Given the description of an element on the screen output the (x, y) to click on. 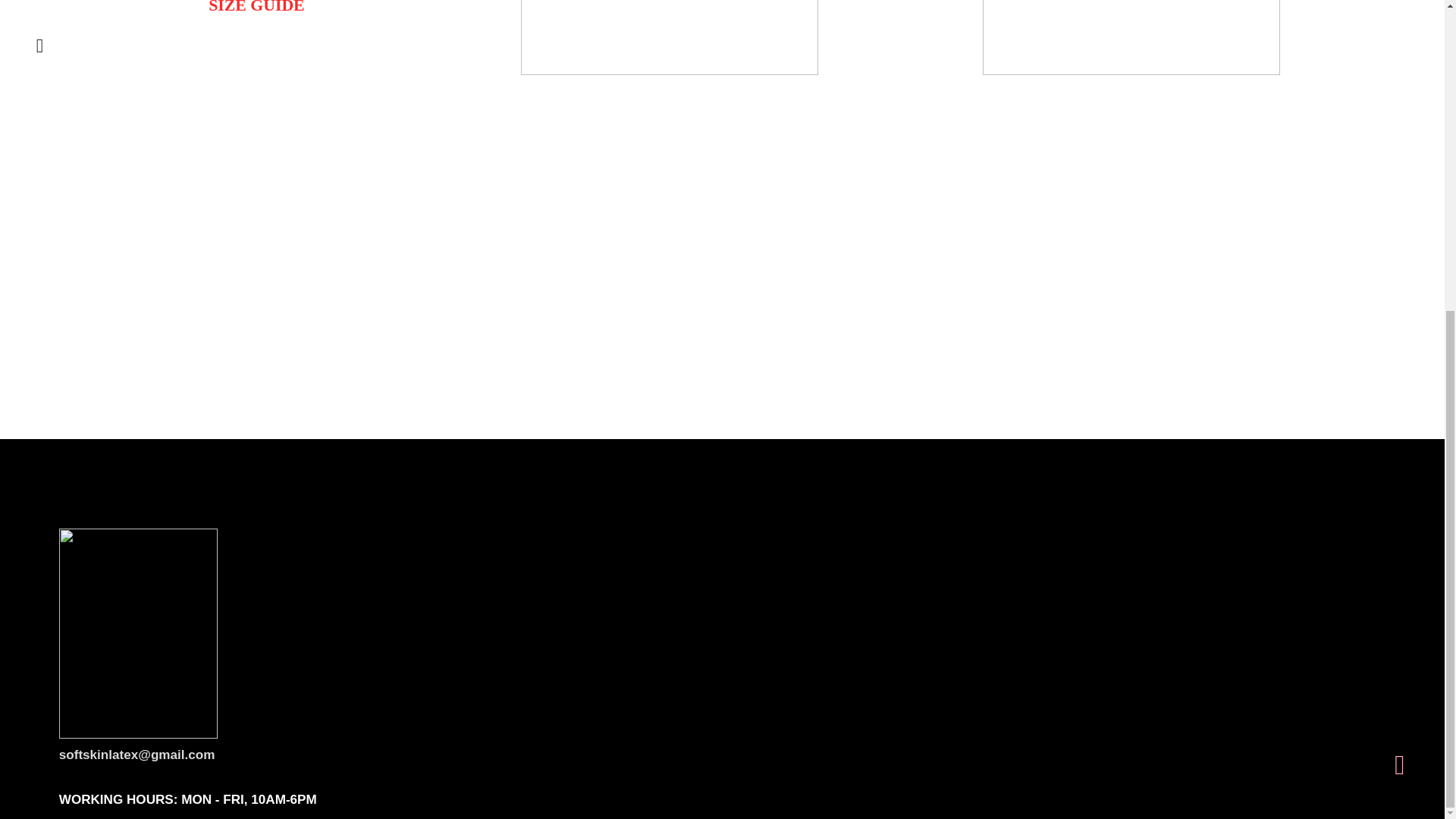
SIZE GUIDE (256, 7)
